Given the description of an element on the screen output the (x, y) to click on. 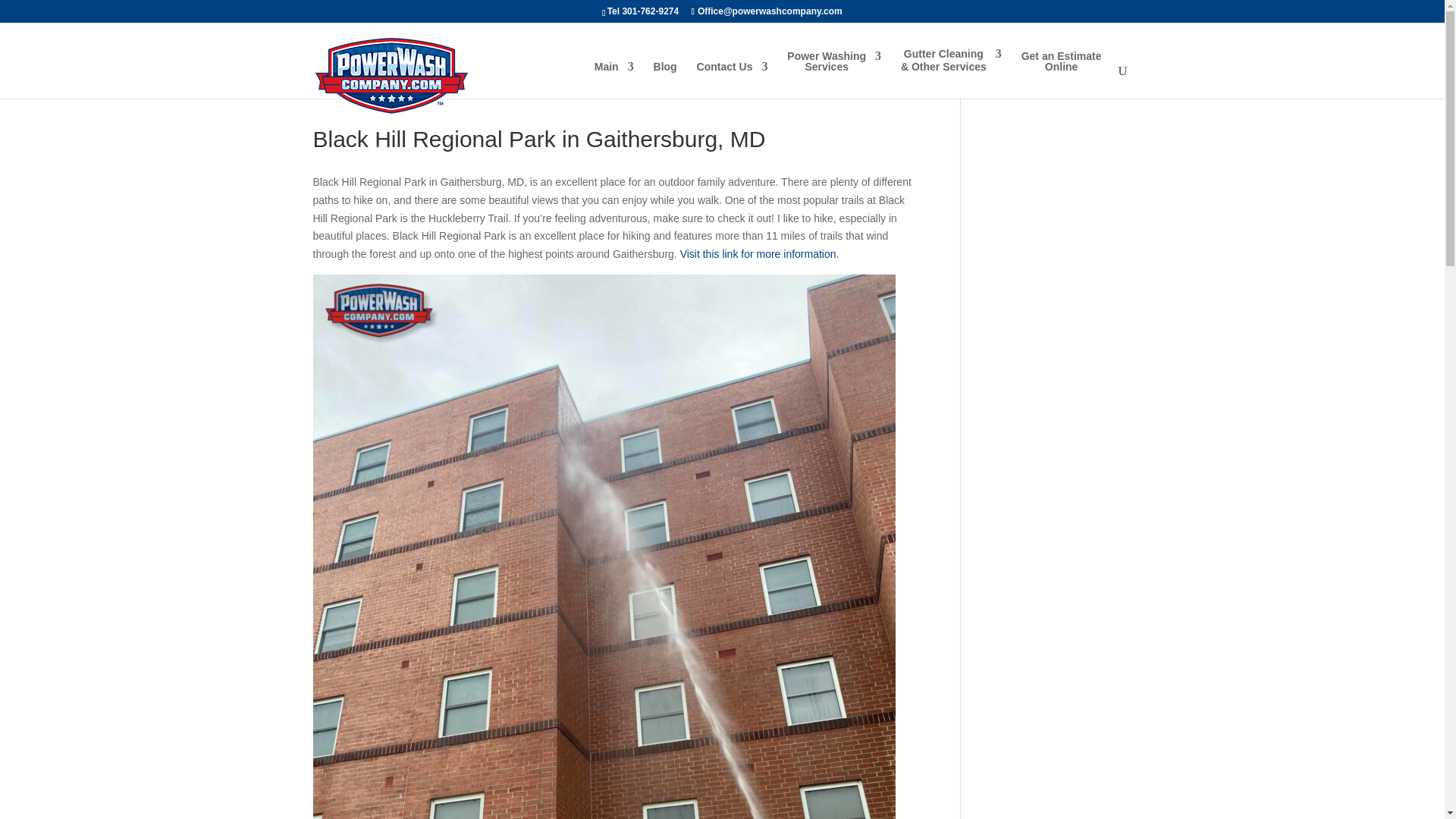
Contact Us (732, 79)
Main (833, 73)
